Given the description of an element on the screen output the (x, y) to click on. 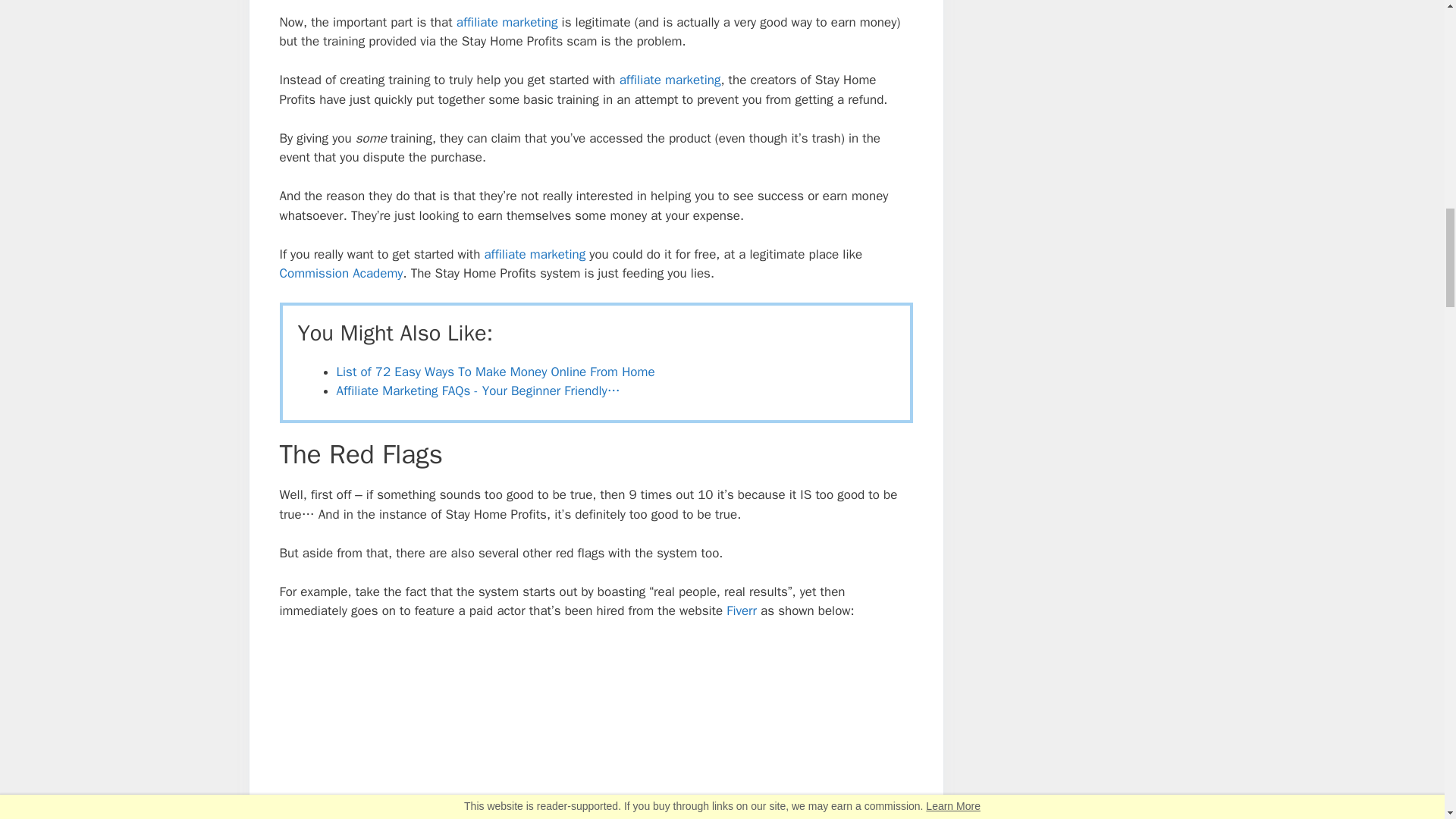
Commission Academy (341, 273)
affiliate marketing (534, 254)
Fiverr (741, 610)
affiliate marketing (670, 79)
List of 72 Easy Ways To Make Money Online From Home (495, 371)
affiliate marketing (507, 22)
